Given the description of an element on the screen output the (x, y) to click on. 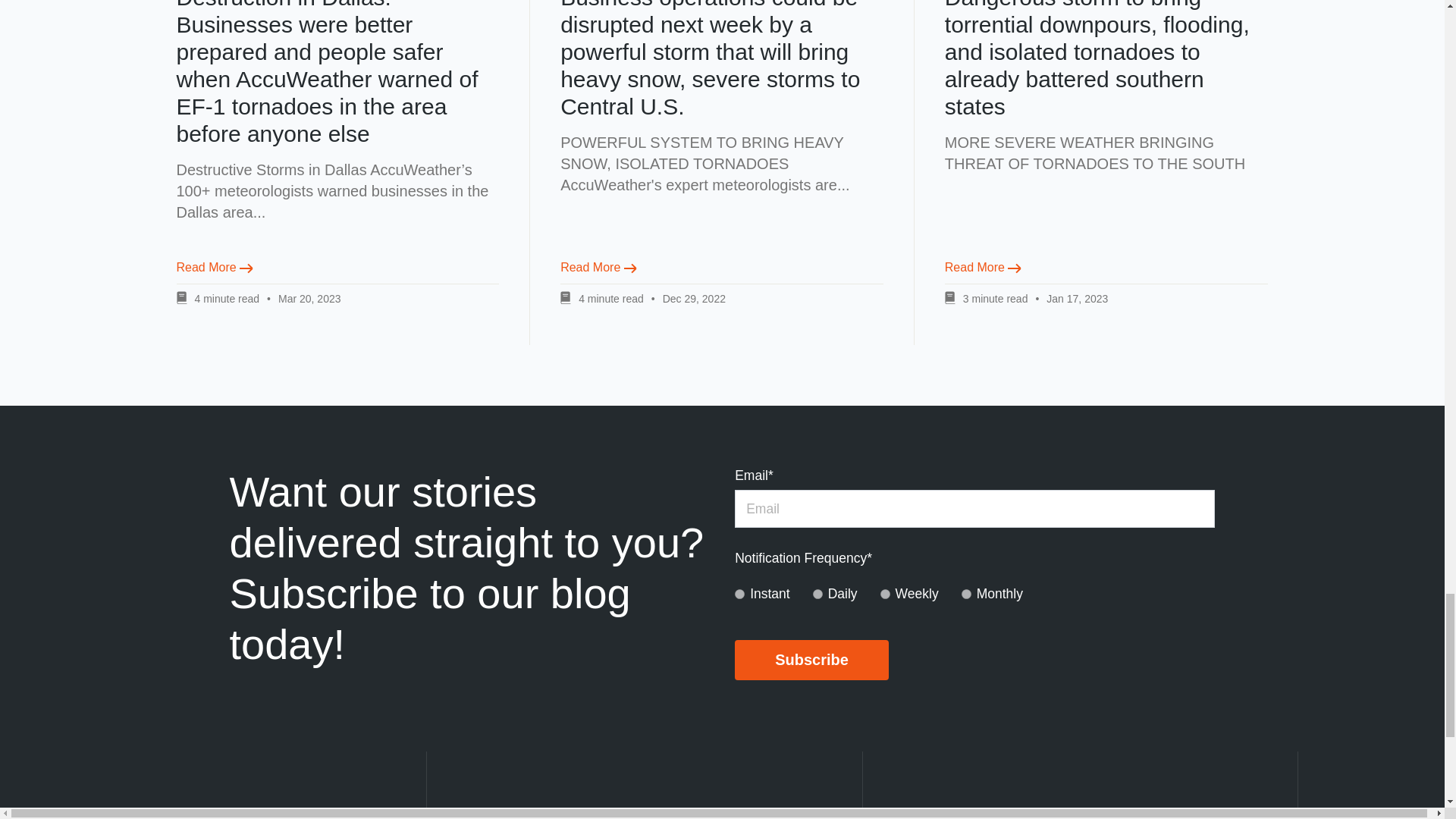
daily (817, 593)
Subscribe (811, 659)
monthly (965, 593)
instant (739, 593)
weekly (884, 593)
